Given the description of an element on the screen output the (x, y) to click on. 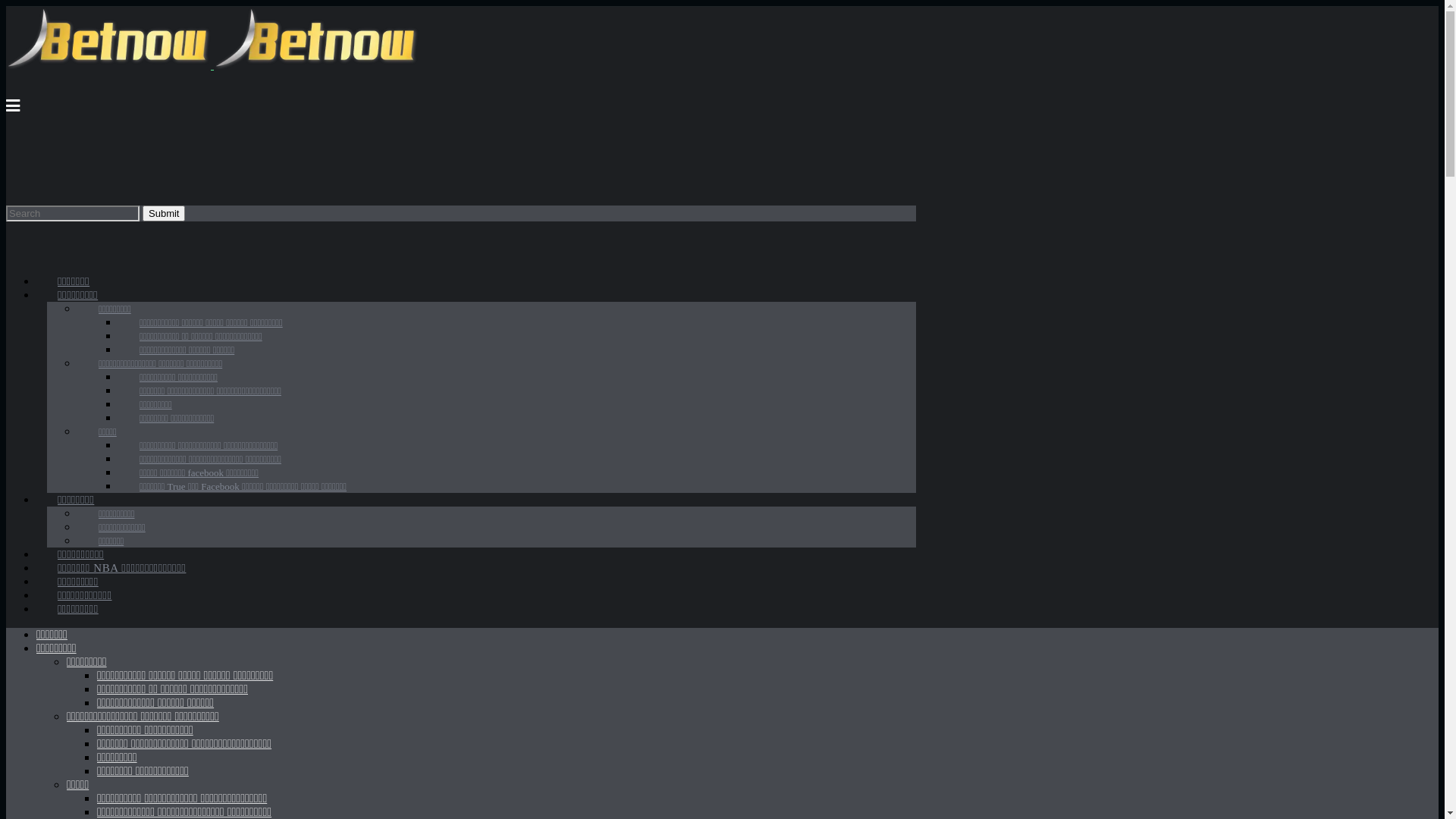
Submit Element type: text (163, 212)
